Given the description of an element on the screen output the (x, y) to click on. 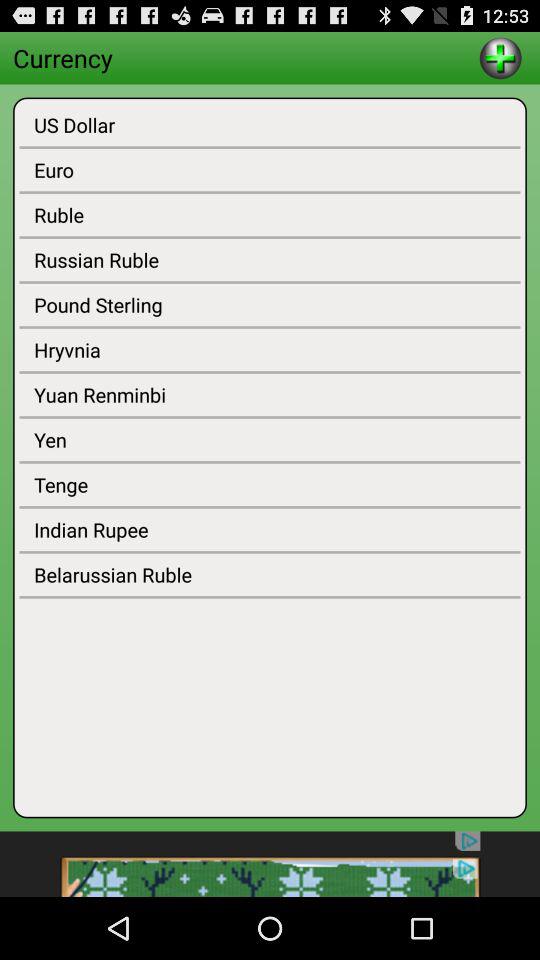
advertisement (270, 864)
